Given the description of an element on the screen output the (x, y) to click on. 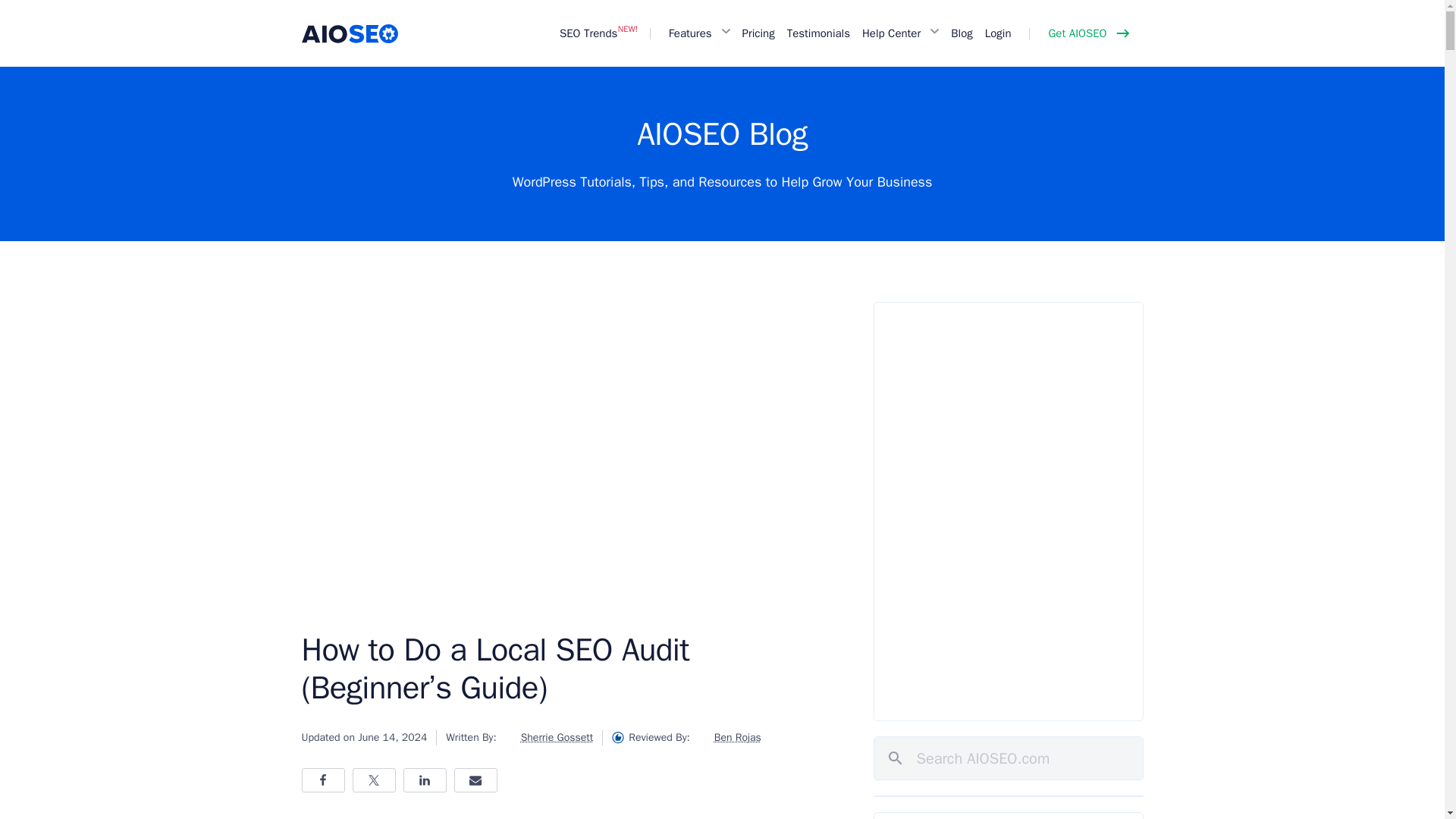
SEO Trends (588, 33)
Share on Facebook (323, 780)
Features (692, 33)
Testimonials (818, 33)
Share on Twitter (373, 780)
Share on LinkedIn (424, 780)
Pricing (758, 33)
Get AIOSEO (1086, 33)
Blog (961, 33)
June 14, 2024 (392, 737)
